Given the description of an element on the screen output the (x, y) to click on. 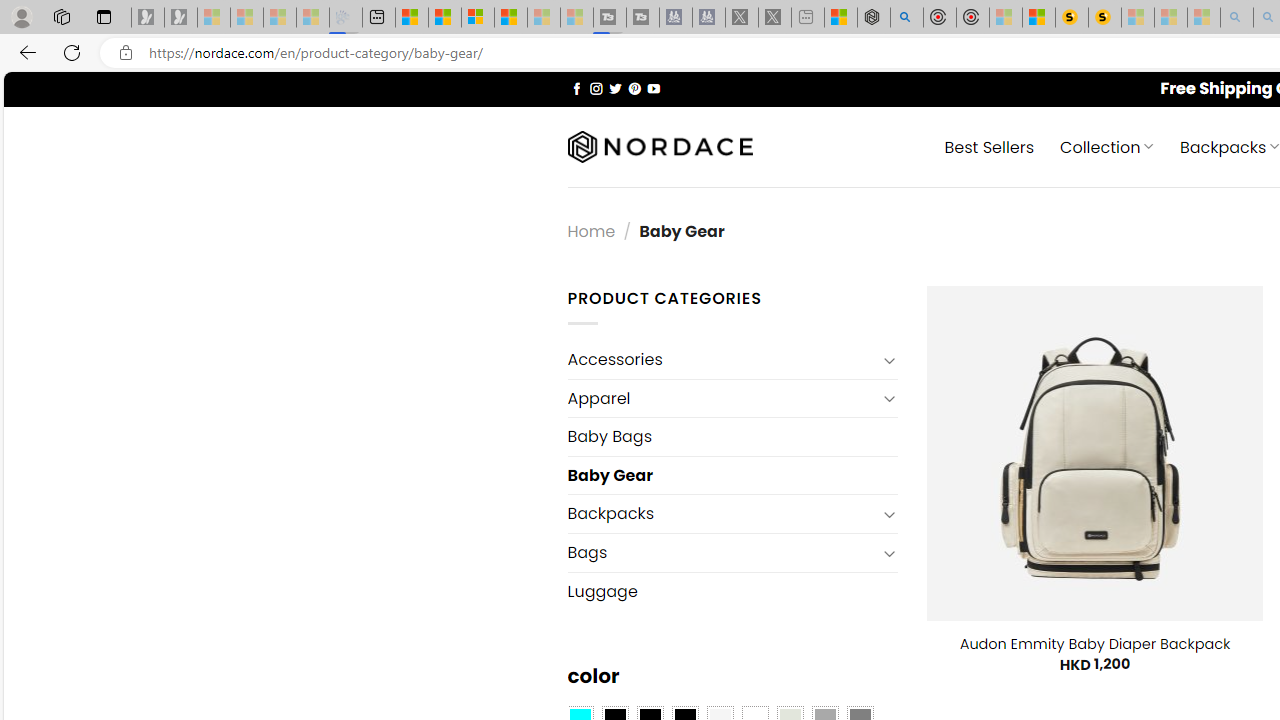
 Best Sellers (989, 146)
Audon Emmity Baby Diaper Backpack (1094, 643)
Newsletter Sign Up - Sleeping (181, 17)
Overview (478, 17)
